Given the description of an element on the screen output the (x, y) to click on. 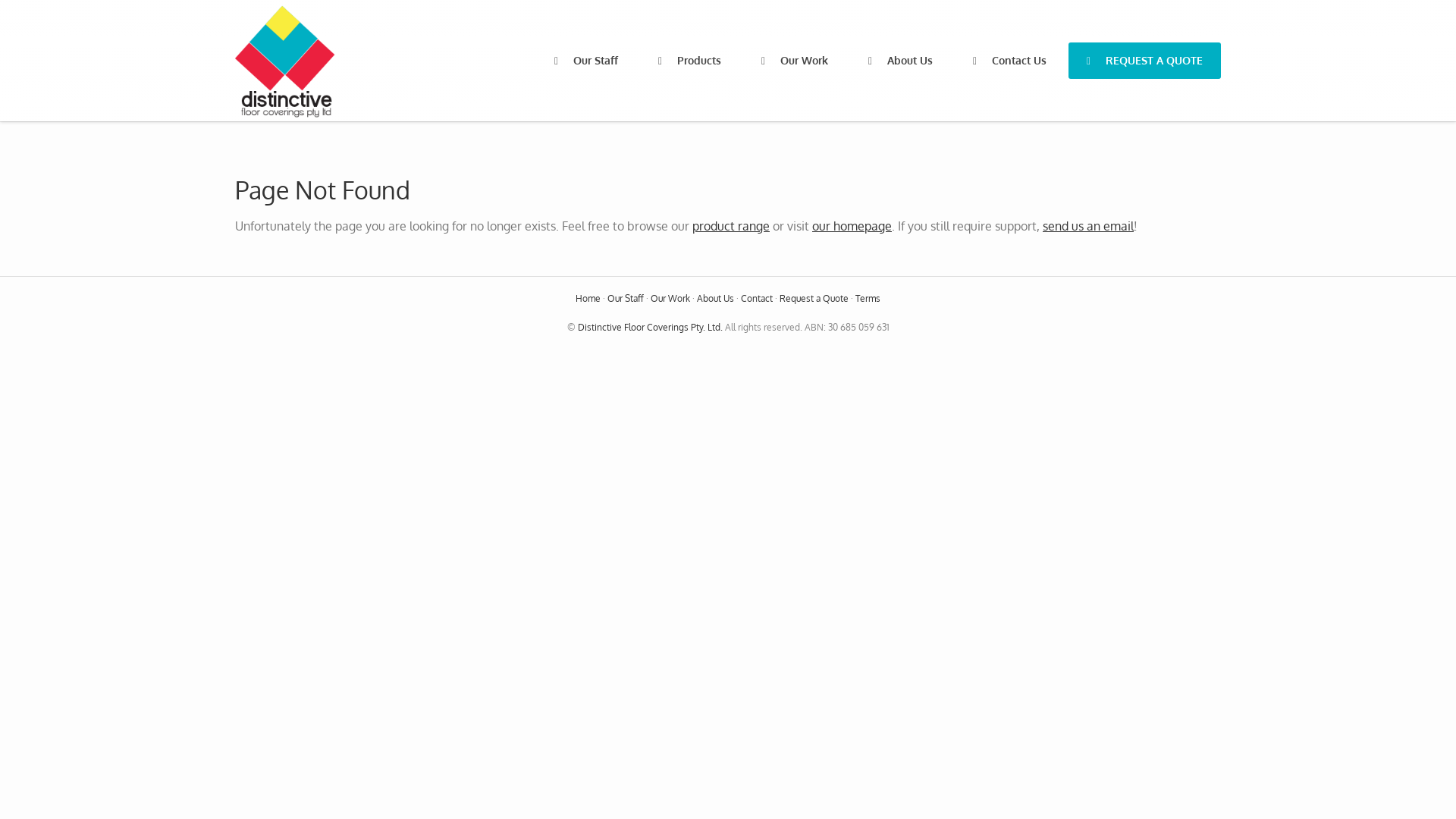
Distinctive Floor Coverings Pty. Ltd. Element type: text (649, 326)
Home Element type: text (587, 298)
Our Work Element type: text (794, 60)
Our Staff Element type: text (625, 298)
Contact Us Element type: text (1009, 60)
our homepage Element type: text (851, 225)
Terms Element type: text (867, 298)
product range Element type: text (730, 225)
About Us Element type: text (900, 60)
Request a Quote Element type: text (813, 298)
Our Staff Element type: text (586, 60)
About Us Element type: text (715, 298)
Products Element type: text (689, 60)
send us an email Element type: text (1087, 225)
REQUEST A QUOTE Element type: text (1144, 60)
Our Work Element type: text (670, 298)
Contact Element type: text (756, 298)
